Given the description of an element on the screen output the (x, y) to click on. 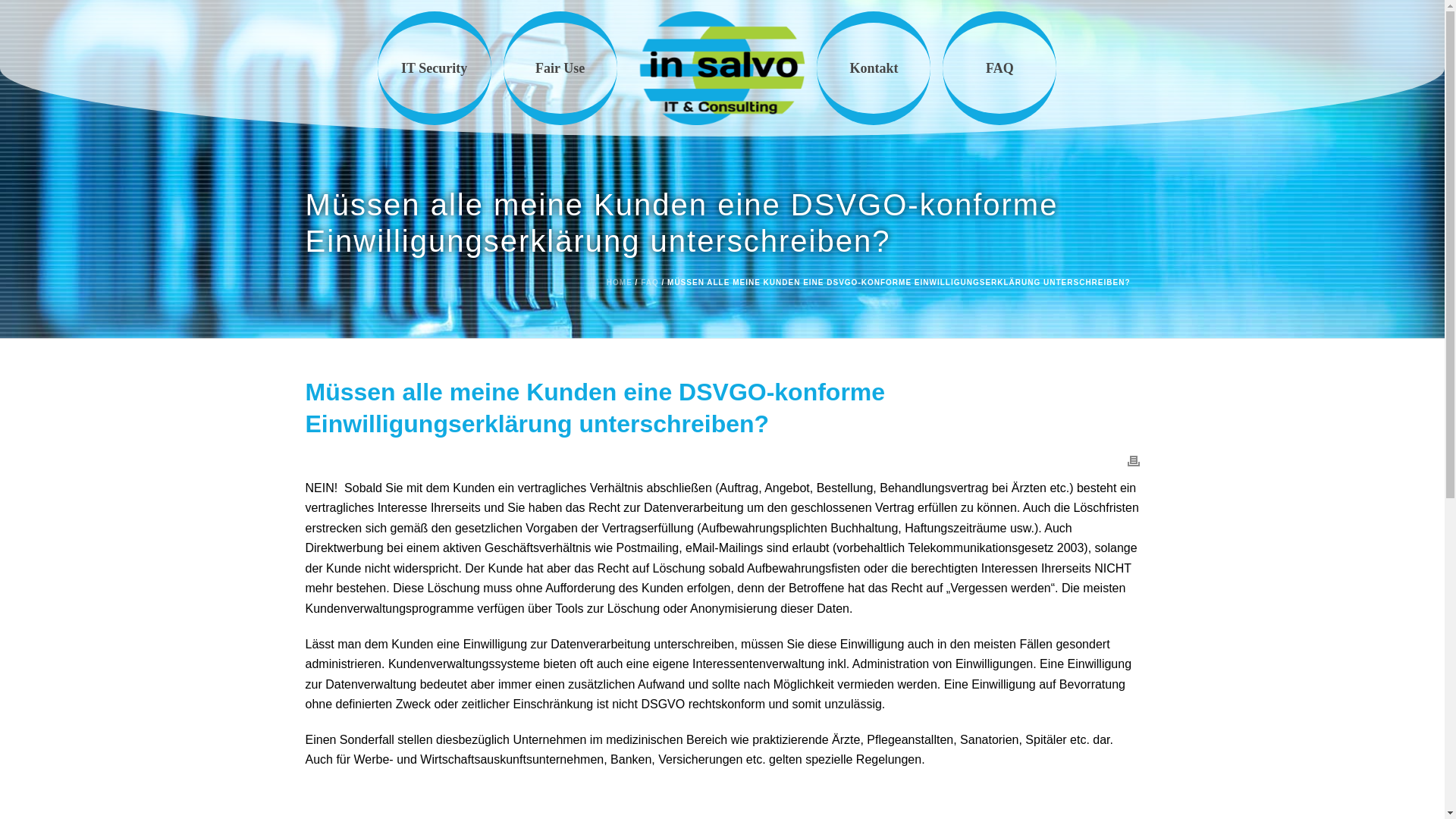
Kontakt Element type: text (873, 68)
HOME Element type: text (619, 282)
Fair Use Element type: text (560, 68)
FAQ Element type: text (649, 282)
In Salvo Element type: hover (722, 68)
IT Security Element type: text (434, 68)
FAQ Element type: text (999, 68)
Print Element type: hover (1132, 460)
